Given the description of an element on the screen output the (x, y) to click on. 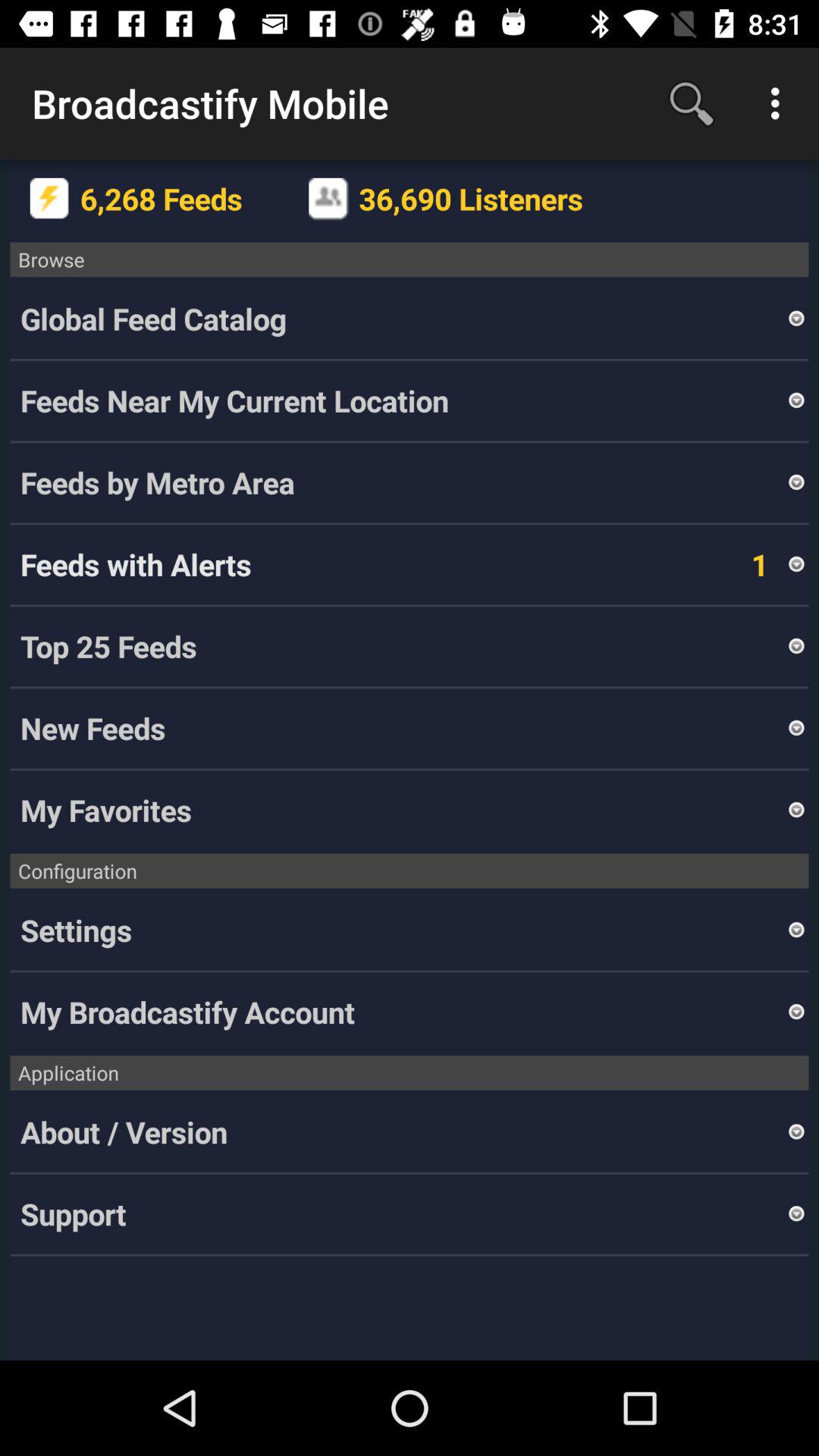
launch the item above new feeds icon (402, 646)
